Given the description of an element on the screen output the (x, y) to click on. 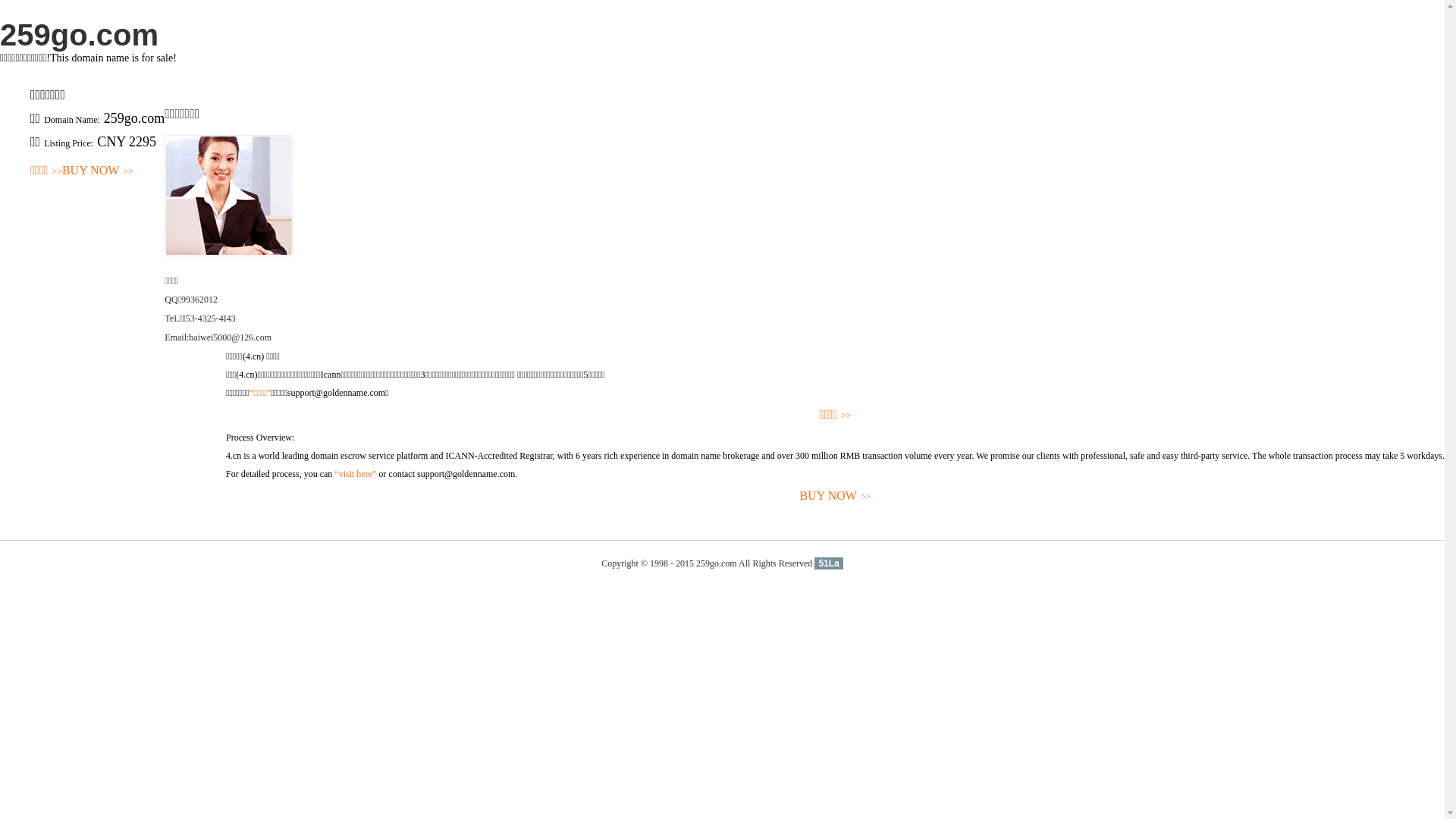
BUY NOW>> Element type: text (97, 170)
51La Element type: text (828, 563)
BUY NOW>> Element type: text (834, 496)
